Given the description of an element on the screen output the (x, y) to click on. 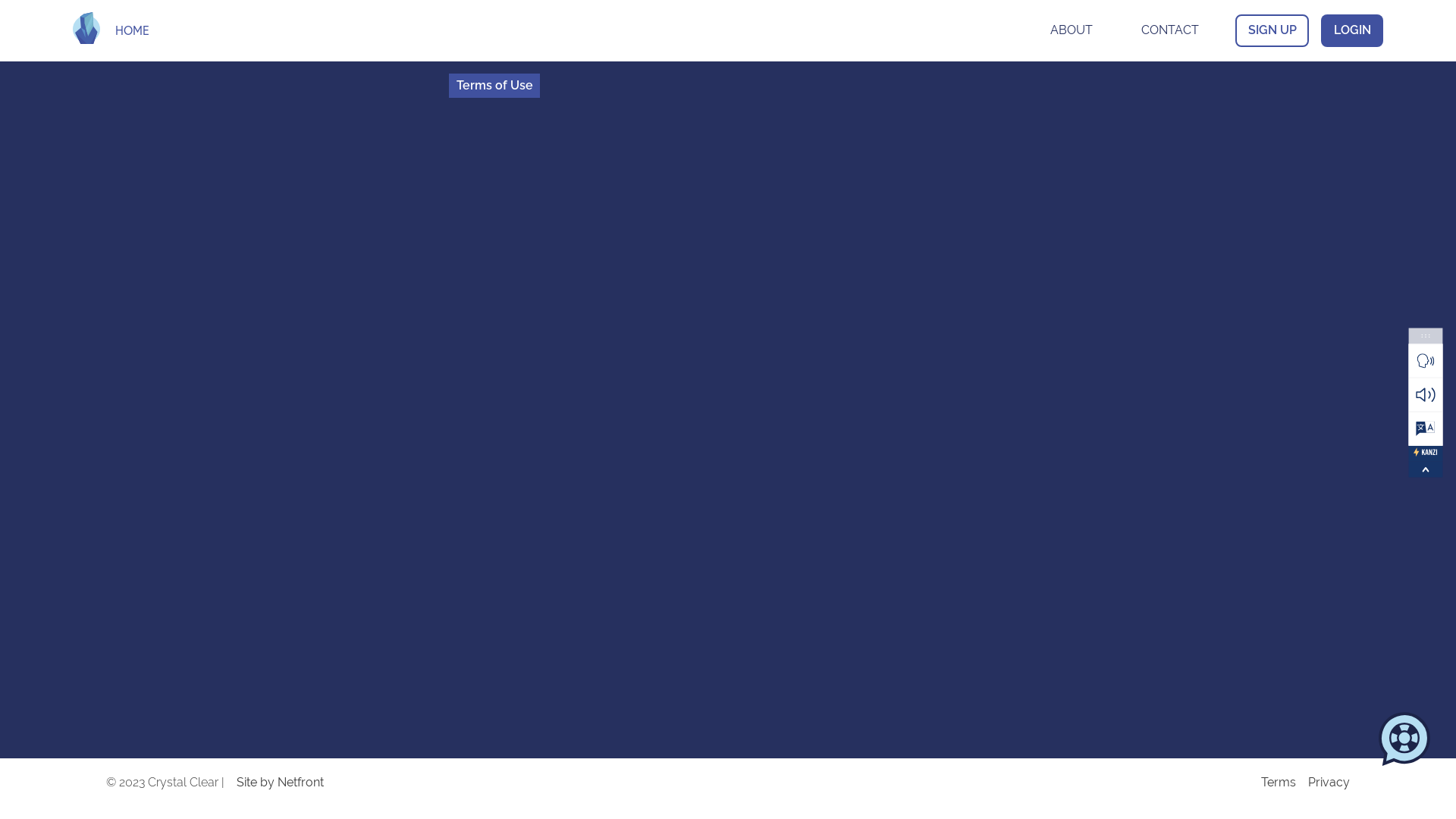
ABOUT Element type: text (1071, 29)
Terms Element type: text (1278, 782)
Volume control Element type: hover (1429, 398)
HOME Element type: text (132, 30)
Play Element type: hover (1429, 364)
Site by Netfront Element type: text (748, 782)
CONTACT Element type: text (1169, 29)
Translate control Element type: hover (1429, 432)
Privacy Element type: text (1328, 782)
LOGIN Element type: text (1352, 30)
SIGN UP Element type: text (1271, 30)
Expand Element type: hover (1429, 470)
